Given the description of an element on the screen output the (x, y) to click on. 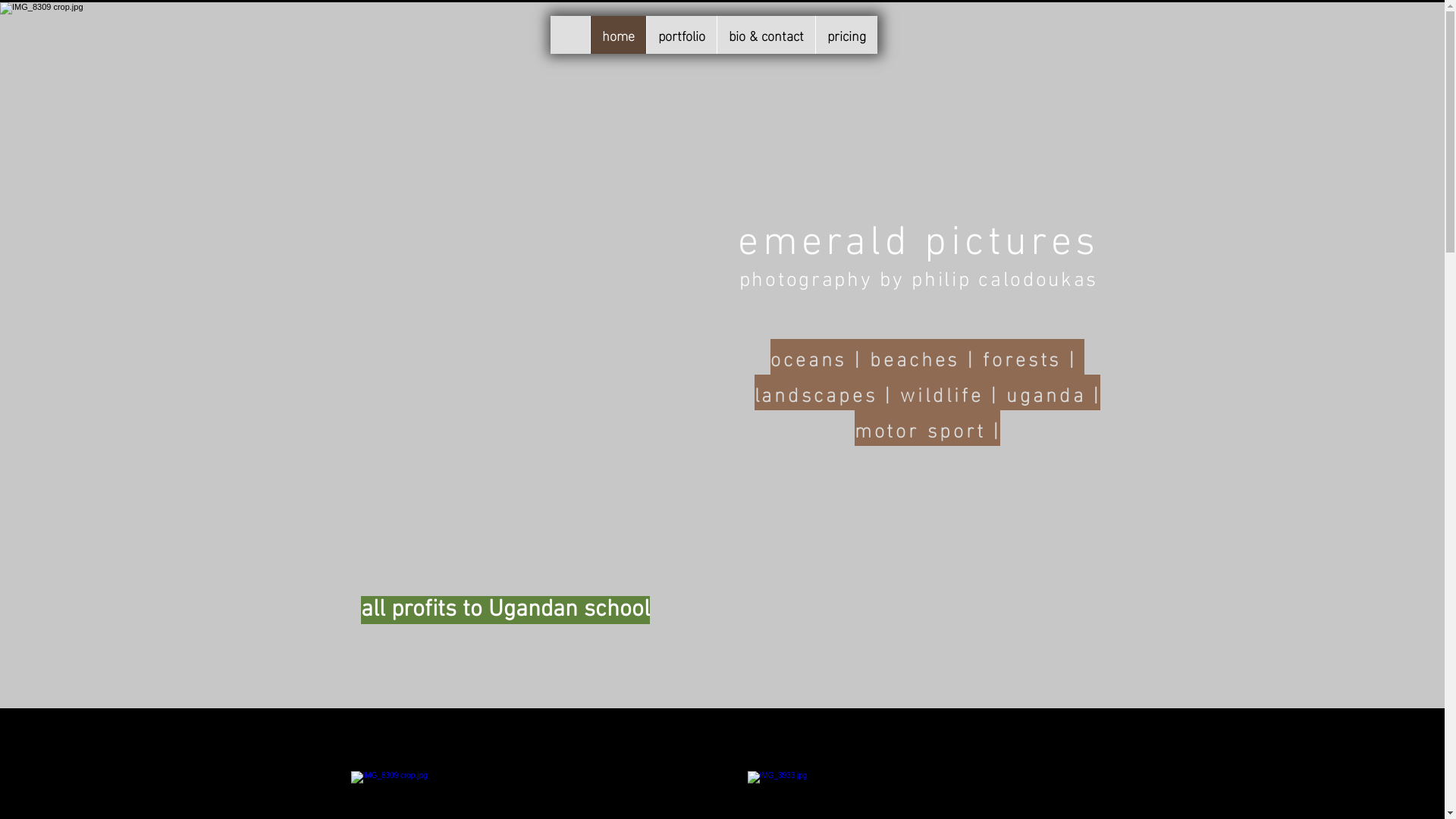
pricing Element type: text (845, 34)
home Element type: text (617, 34)
bio & contact Element type: text (764, 34)
